Given the description of an element on the screen output the (x, y) to click on. 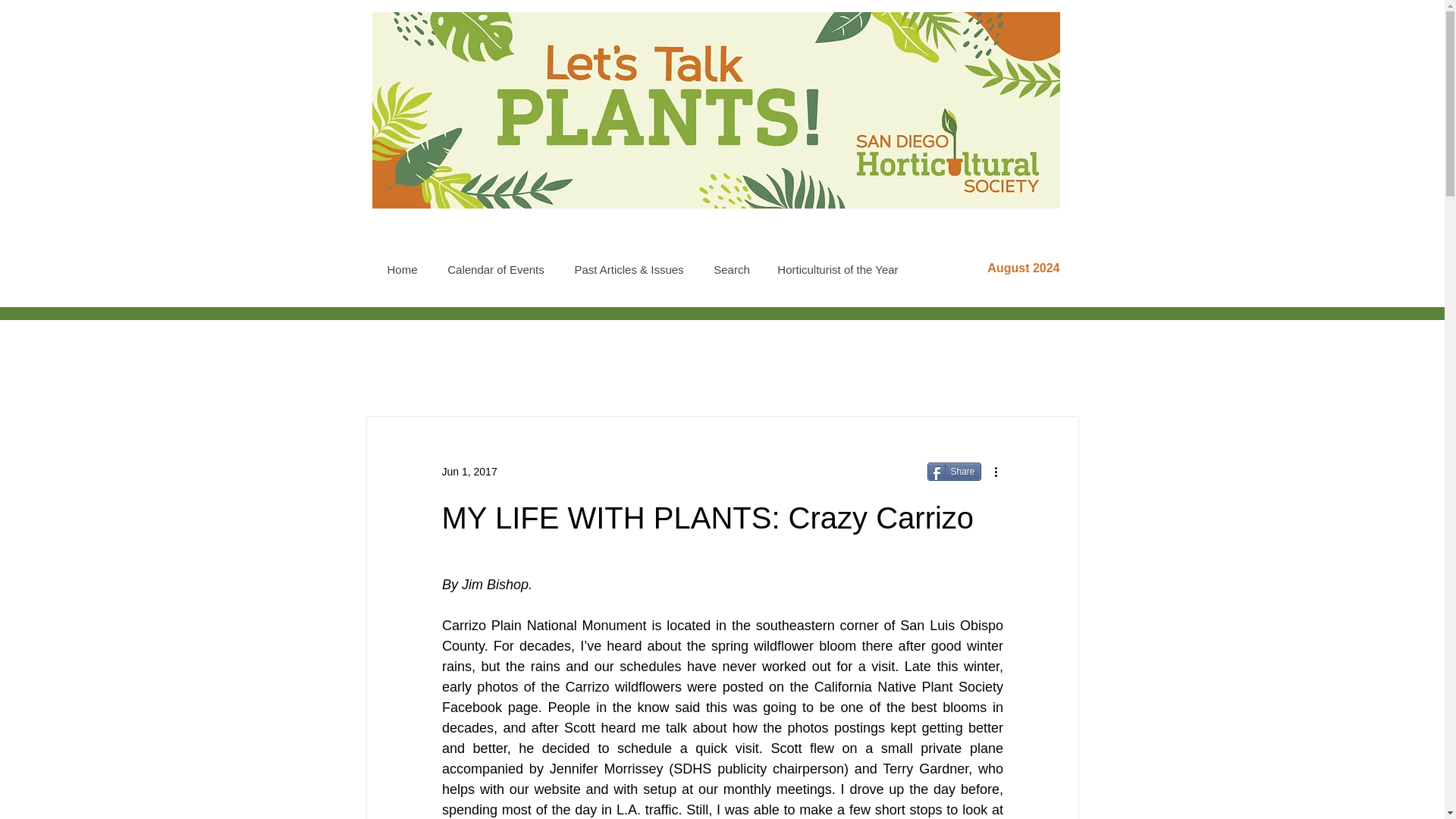
Search (731, 269)
Calendar of Events (494, 269)
Jun 1, 2017 (468, 471)
Horticulturist of the Year (837, 269)
Home (401, 269)
Share (952, 471)
Share (952, 471)
